Given the description of an element on the screen output the (x, y) to click on. 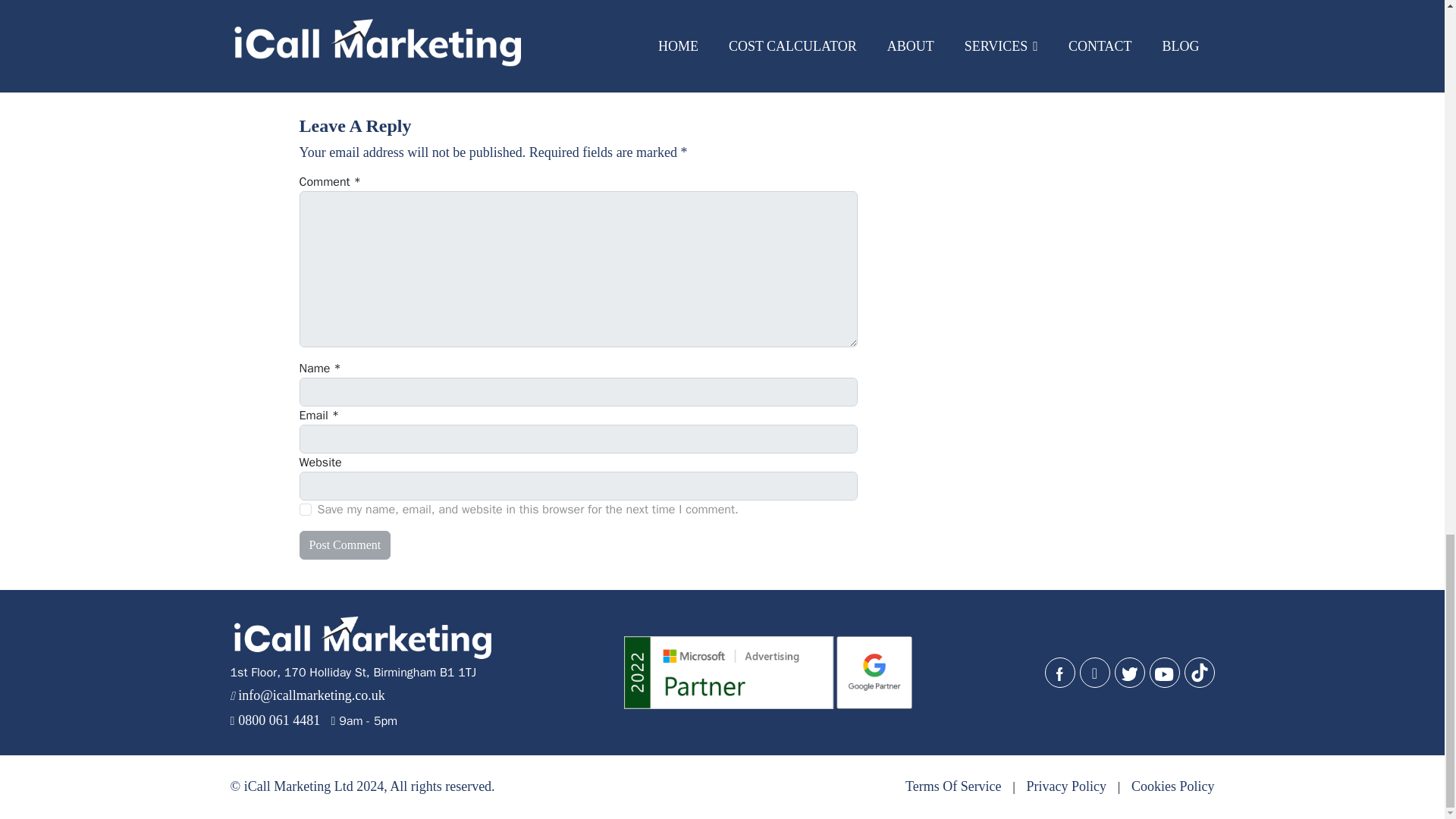
0800 061 4481 (279, 720)
yes (304, 509)
Post Comment (344, 544)
Local SEO Services (392, 65)
Terms Of Service (953, 785)
iCall Marketing in Birmingham (547, 12)
Privacy Policy (1066, 785)
Cookies Policy (1172, 785)
Post Comment (344, 544)
